Given the description of an element on the screen output the (x, y) to click on. 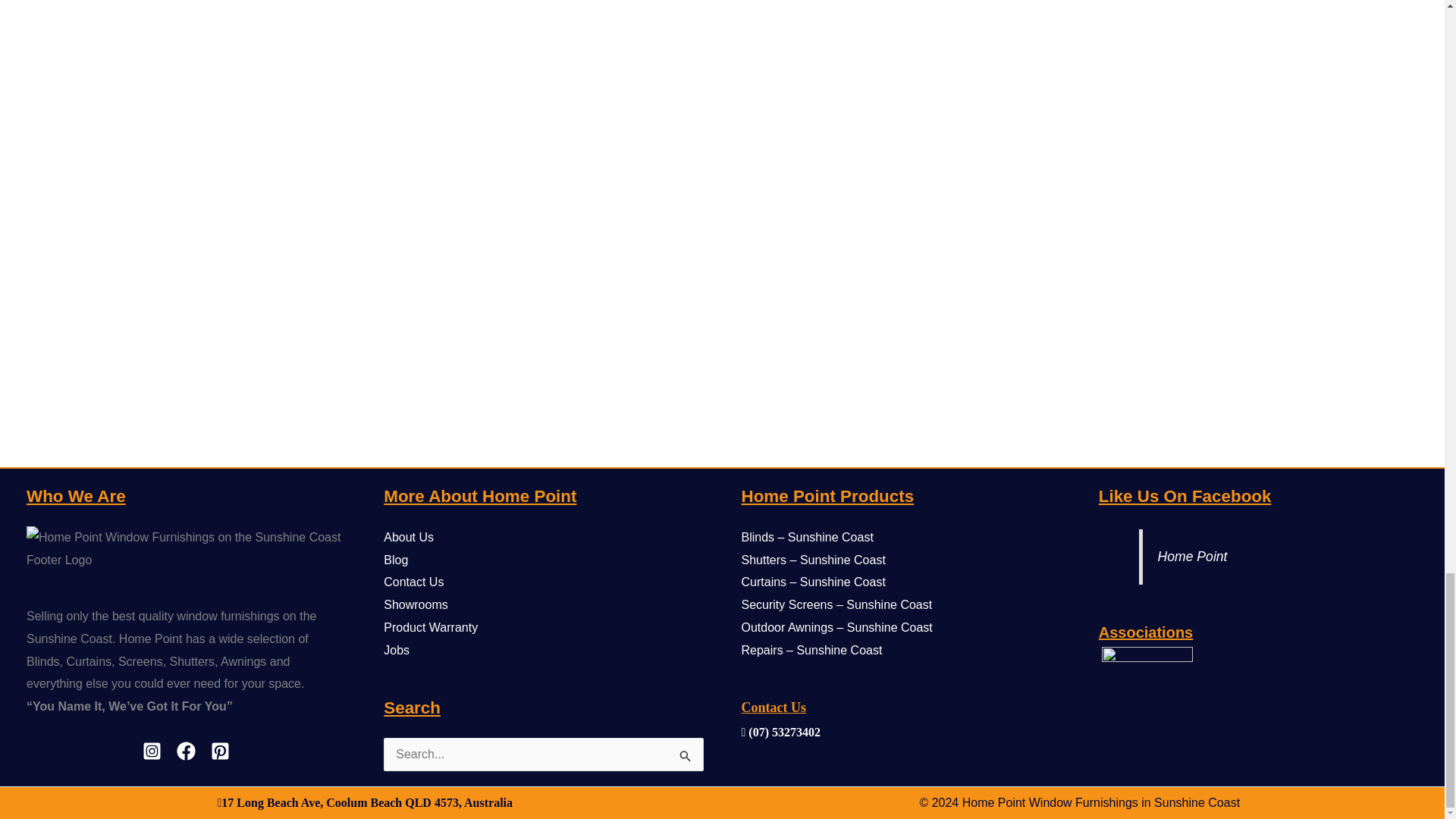
Who We Are (186, 548)
